Given the description of an element on the screen output the (x, y) to click on. 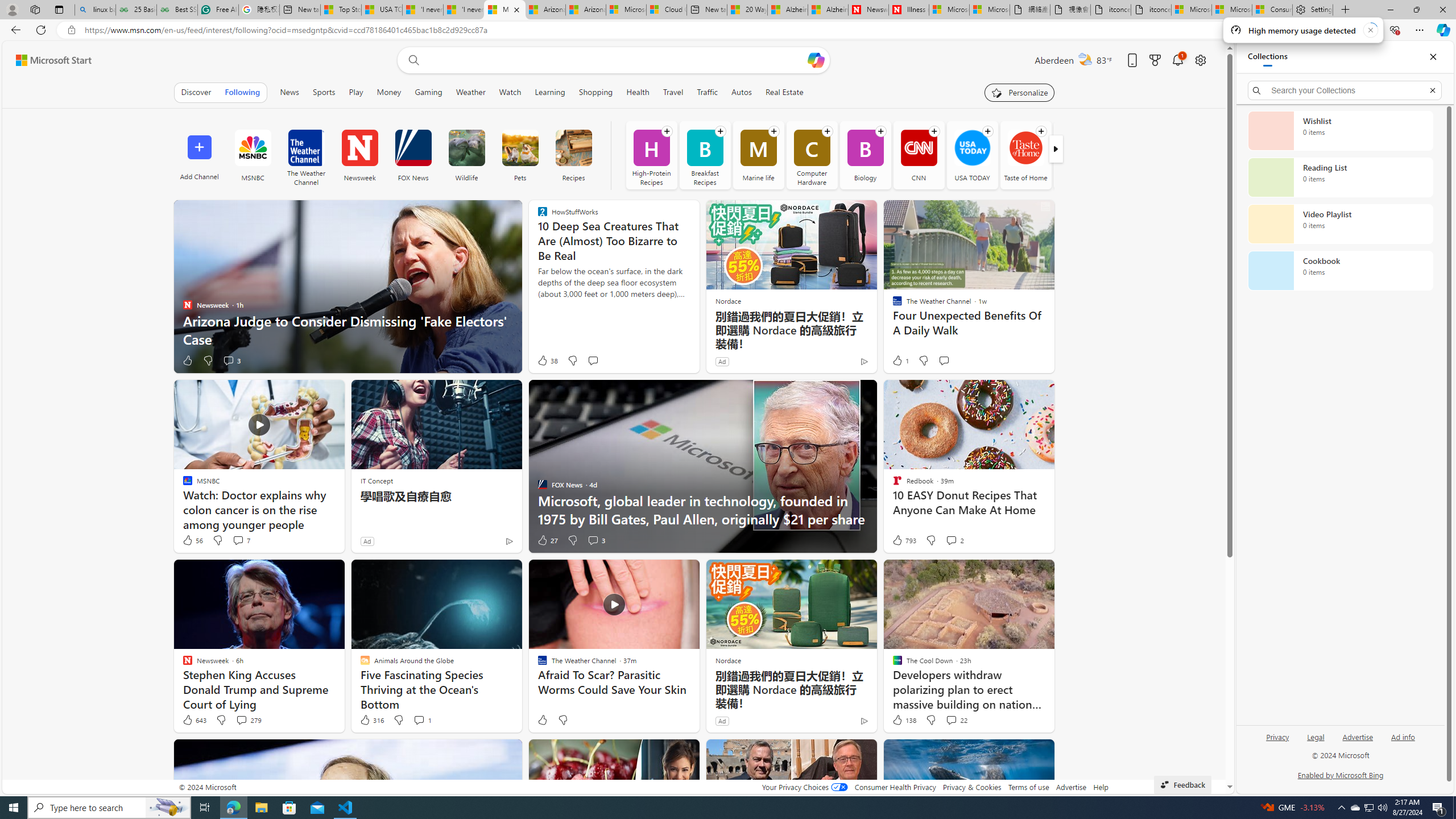
Web search (411, 60)
Money (388, 92)
Health (637, 92)
Consumer Health Data Privacy Policy (1272, 9)
View comments 2 Comment (950, 540)
27 Like (546, 539)
Skip to footer (46, 59)
56 Like (192, 539)
Real Estate (784, 92)
Autos (741, 92)
Money (389, 92)
Follow channel (1040, 130)
Free AI Writing Assistance for Students | Grammarly (217, 9)
